Given the description of an element on the screen output the (x, y) to click on. 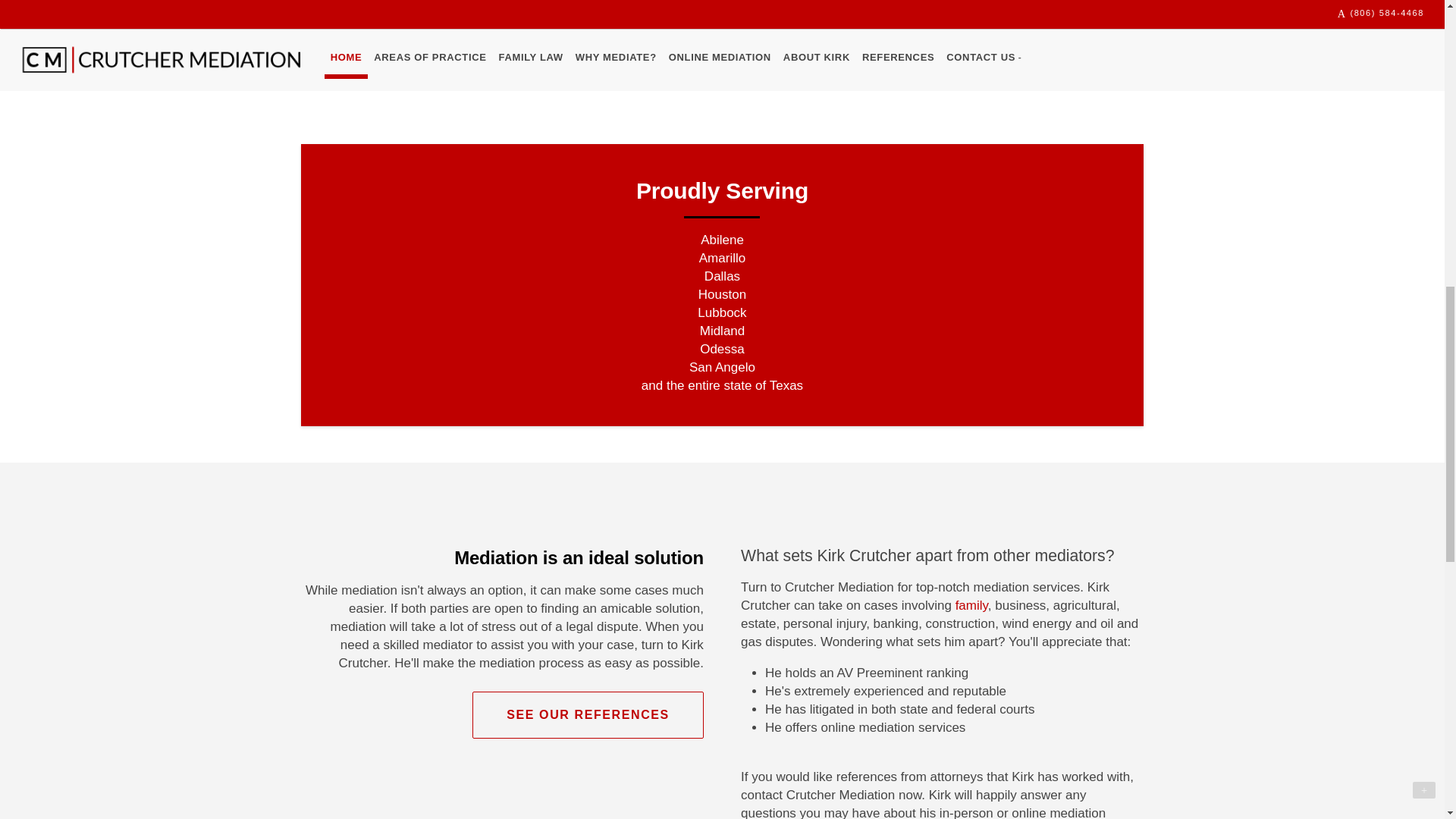
Family Law (612, 35)
About Kirk (1051, 35)
Areas of Practice (392, 35)
family (971, 605)
